Given the description of an element on the screen output the (x, y) to click on. 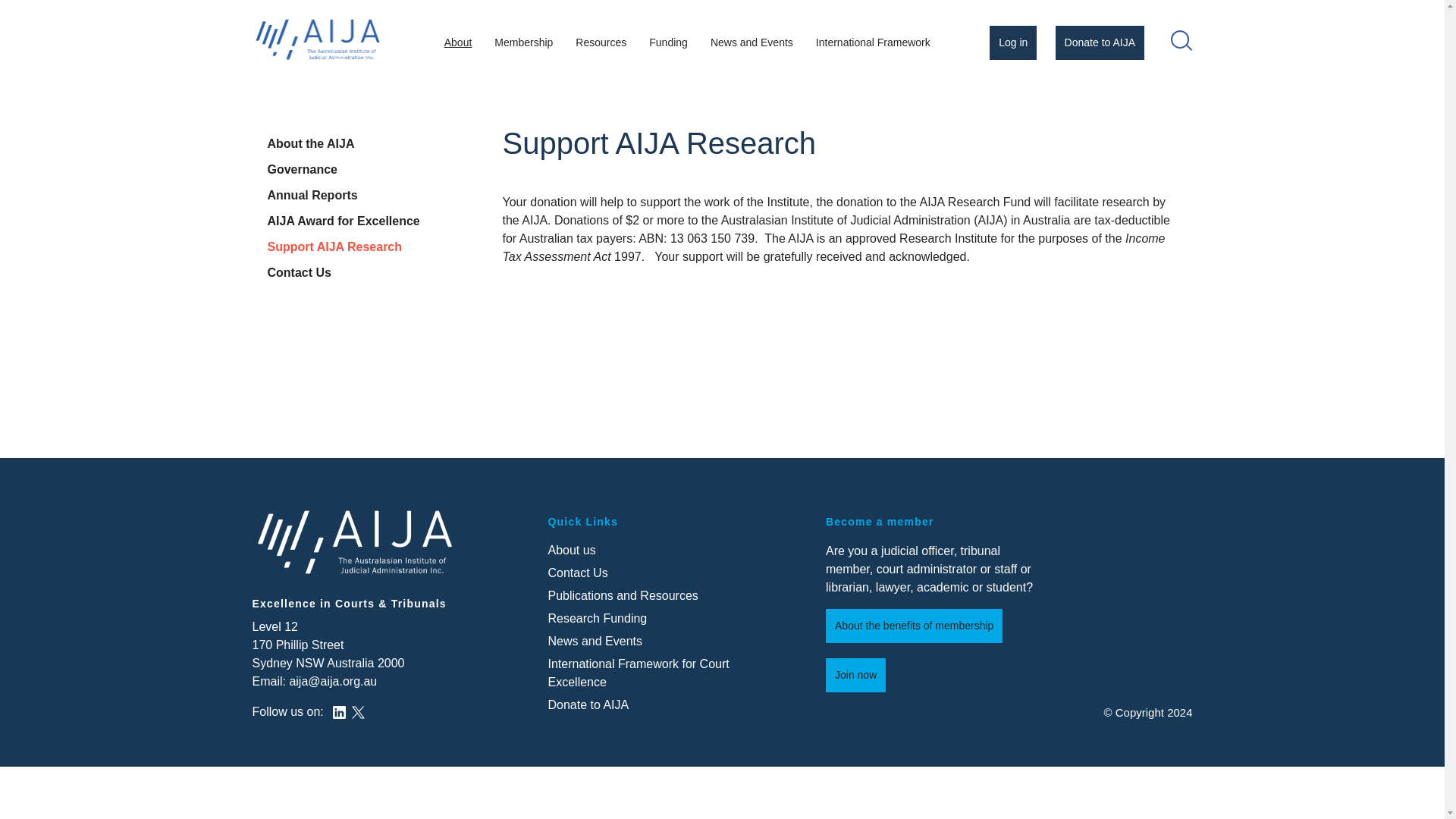
Resources (600, 42)
Membership (523, 42)
About (457, 42)
Funding (667, 42)
News and Events (751, 42)
